Given the description of an element on the screen output the (x, y) to click on. 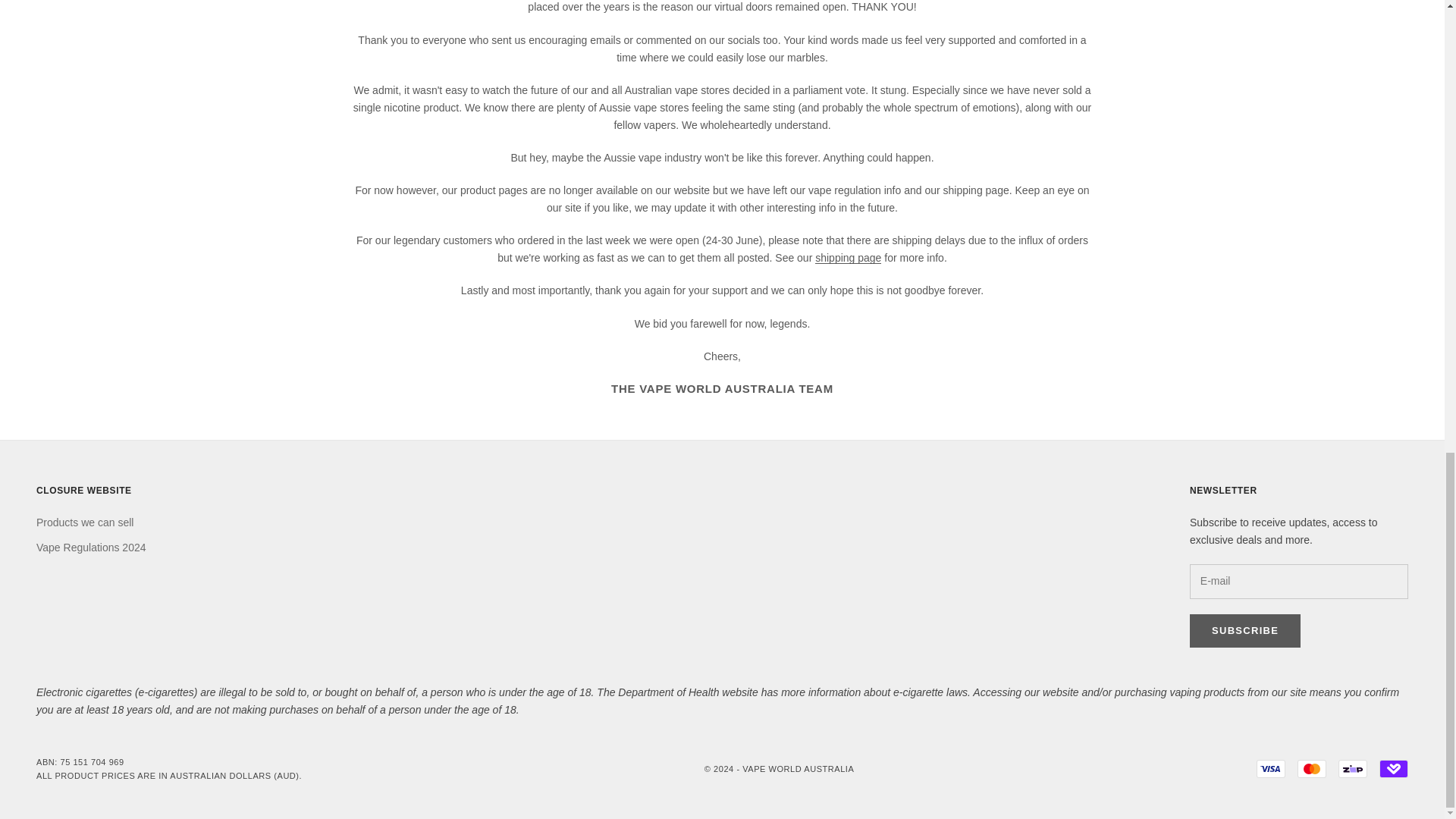
shipping page (847, 257)
SUBSCRIBE (1244, 630)
Department of Health website (687, 692)
Products we can sell (84, 522)
Vape Regulations 2024 (91, 547)
